Given the description of an element on the screen output the (x, y) to click on. 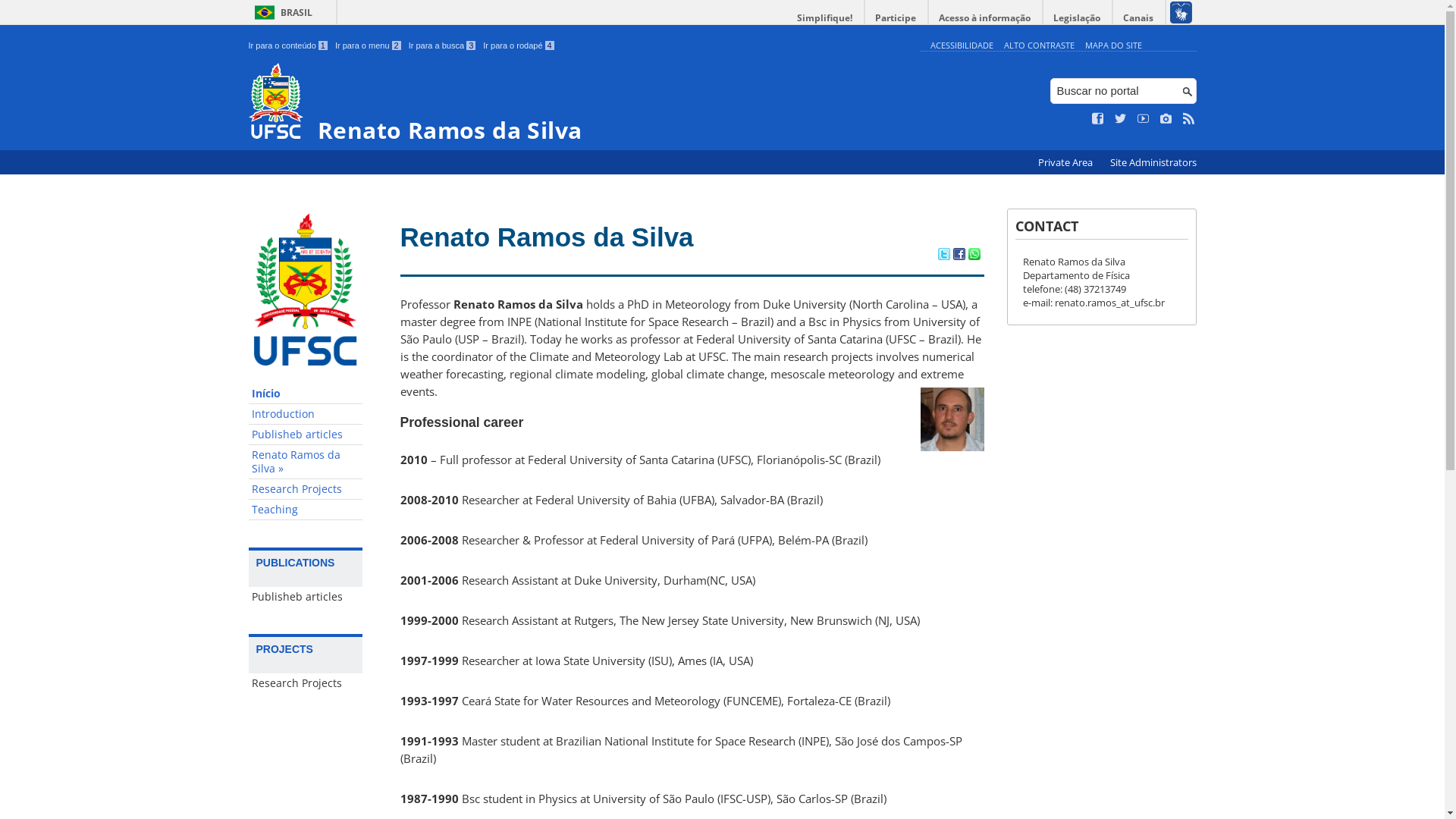
Simplifique! Element type: text (825, 18)
Canais Element type: text (1138, 18)
Compartilhar no Twitter Element type: hover (943, 255)
Participe Element type: text (895, 18)
Veja no Instagram Element type: hover (1166, 118)
MAPA DO SITE Element type: text (1112, 44)
Introduction Element type: text (305, 414)
Private Area Element type: text (1065, 162)
Site Administrators Element type: text (1153, 162)
Publisheb articles Element type: text (305, 434)
Research Projects Element type: text (305, 489)
BRASIL Element type: text (280, 12)
ACESSIBILIDADE Element type: text (960, 44)
ALTO CONTRASTE Element type: text (1039, 44)
Ir para o menu 2 Element type: text (368, 45)
Curta no Facebook Element type: hover (1098, 118)
Renato Ramos da Silva Element type: text (580, 102)
Renato Ramos da Silva Element type: text (546, 236)
Ir para a busca 3 Element type: text (442, 45)
Research Projects Element type: text (305, 683)
Siga no Twitter Element type: hover (1120, 118)
Teaching Element type: text (305, 509)
Publisheb articles Element type: text (305, 596)
Compartilhar no WhatsApp Element type: hover (973, 255)
Compartilhar no Facebook Element type: hover (958, 255)
